Given the description of an element on the screen output the (x, y) to click on. 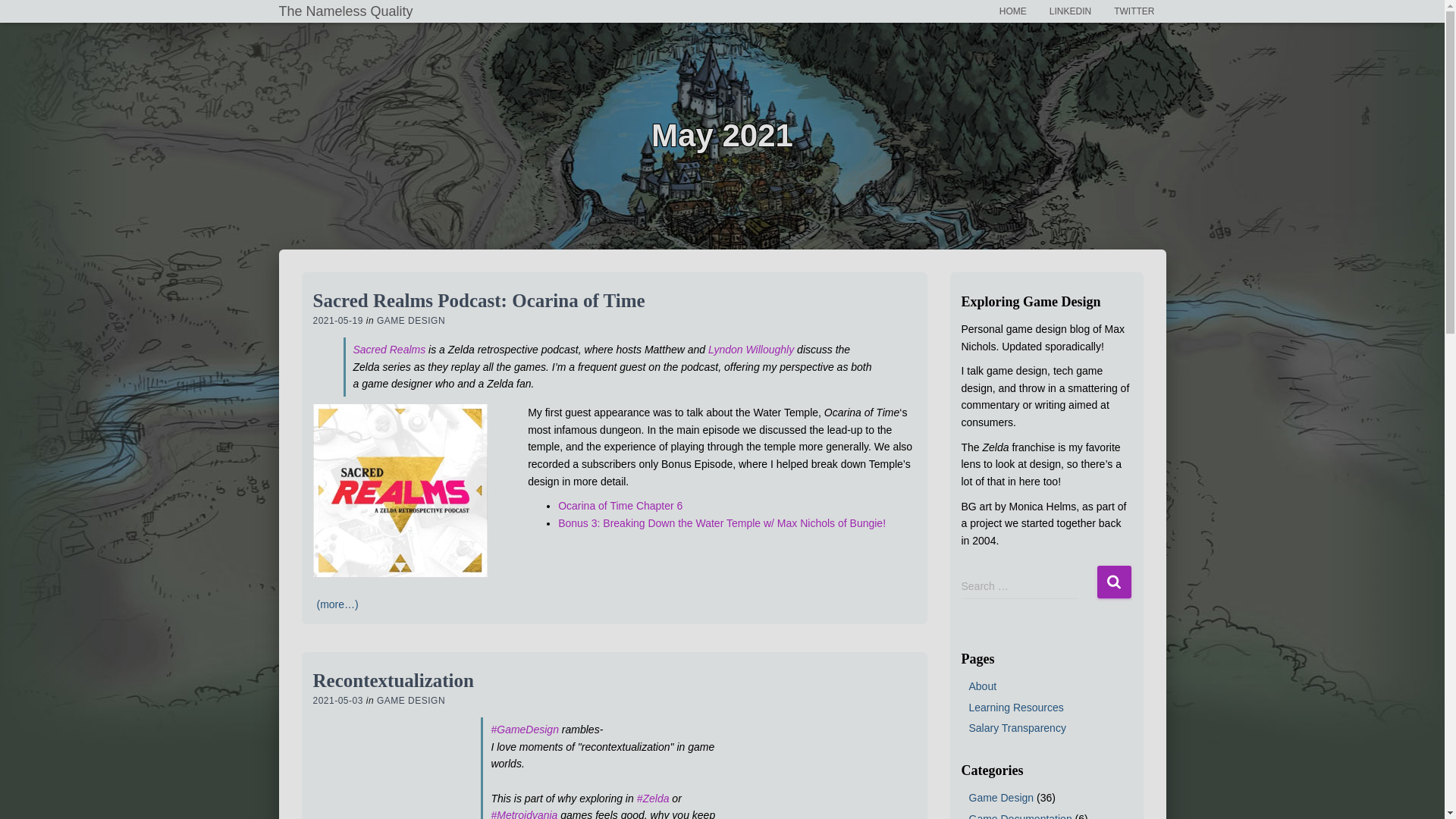
Sacred Realms (389, 349)
Lyndon Willoughly (750, 349)
Sacred Realms Podcast: Ocarina of Time (479, 300)
About (983, 686)
Search (1113, 581)
Learning Resources (1016, 707)
The Nameless Quality (344, 11)
Recontextualization (393, 680)
HOME (1013, 11)
Game Documentation (1020, 816)
